Given the description of an element on the screen output the (x, y) to click on. 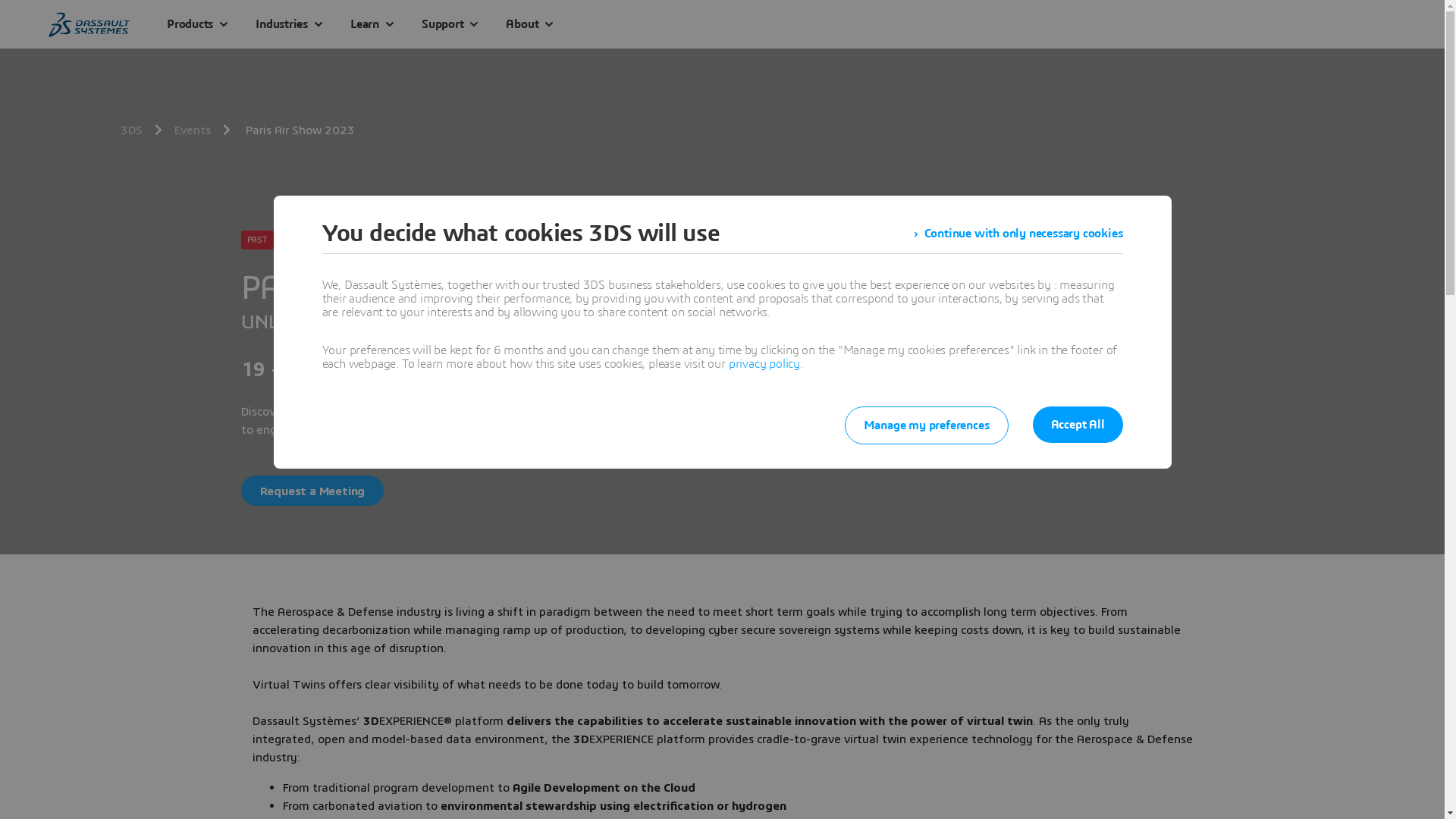
Events Element type: text (195, 129)
Accept All Element type: text (1077, 424)
Manage my preferences Element type: text (926, 425)
Continue with only necessary cookies Element type: text (1018, 233)
privacy policy Element type: text (764, 363)
3DS Element type: text (134, 129)
Request a Meeting Element type: text (312, 490)
